Given the description of an element on the screen output the (x, y) to click on. 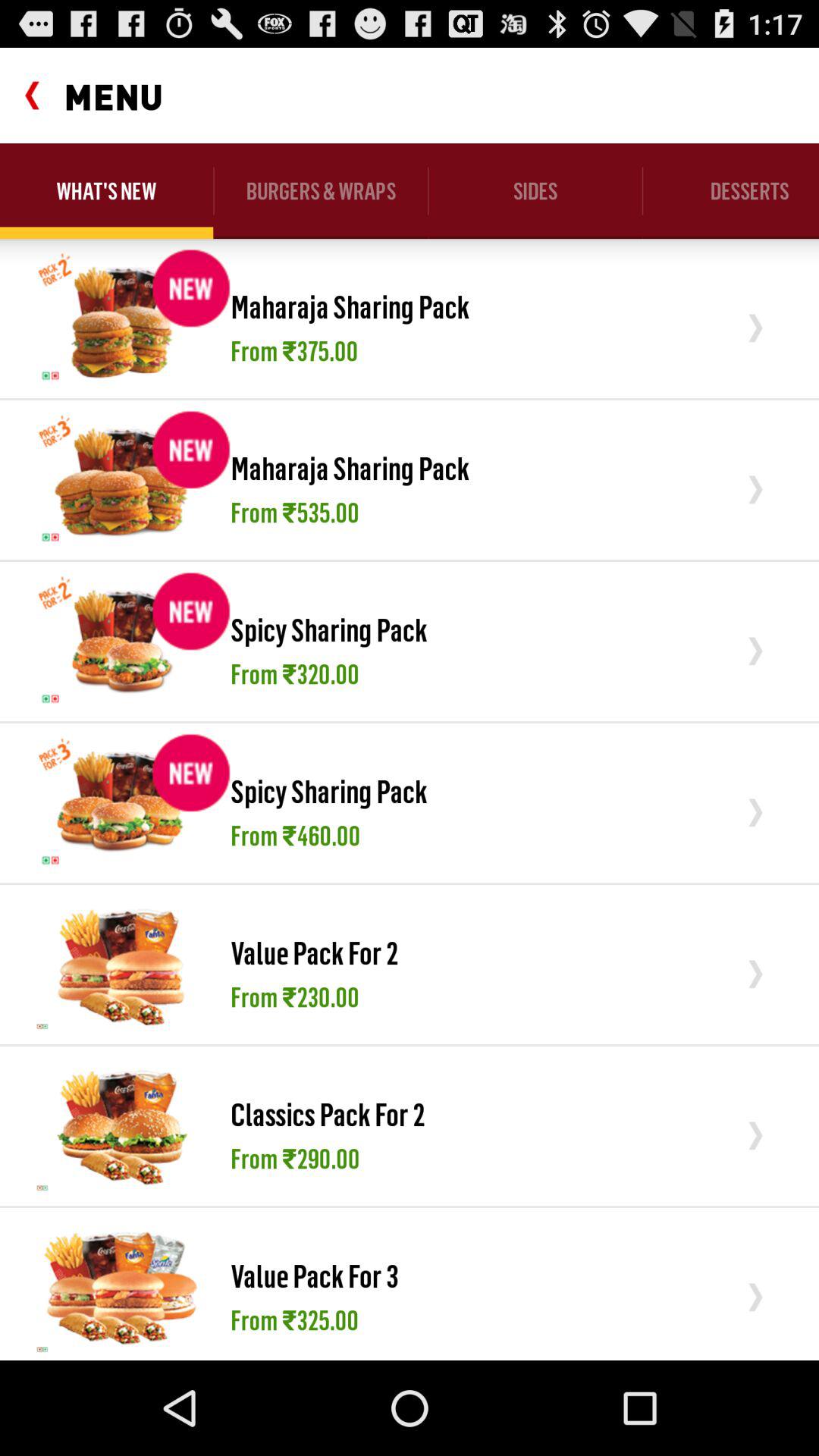
turn on item to the left of the value pack for (121, 1287)
